Given the description of an element on the screen output the (x, y) to click on. 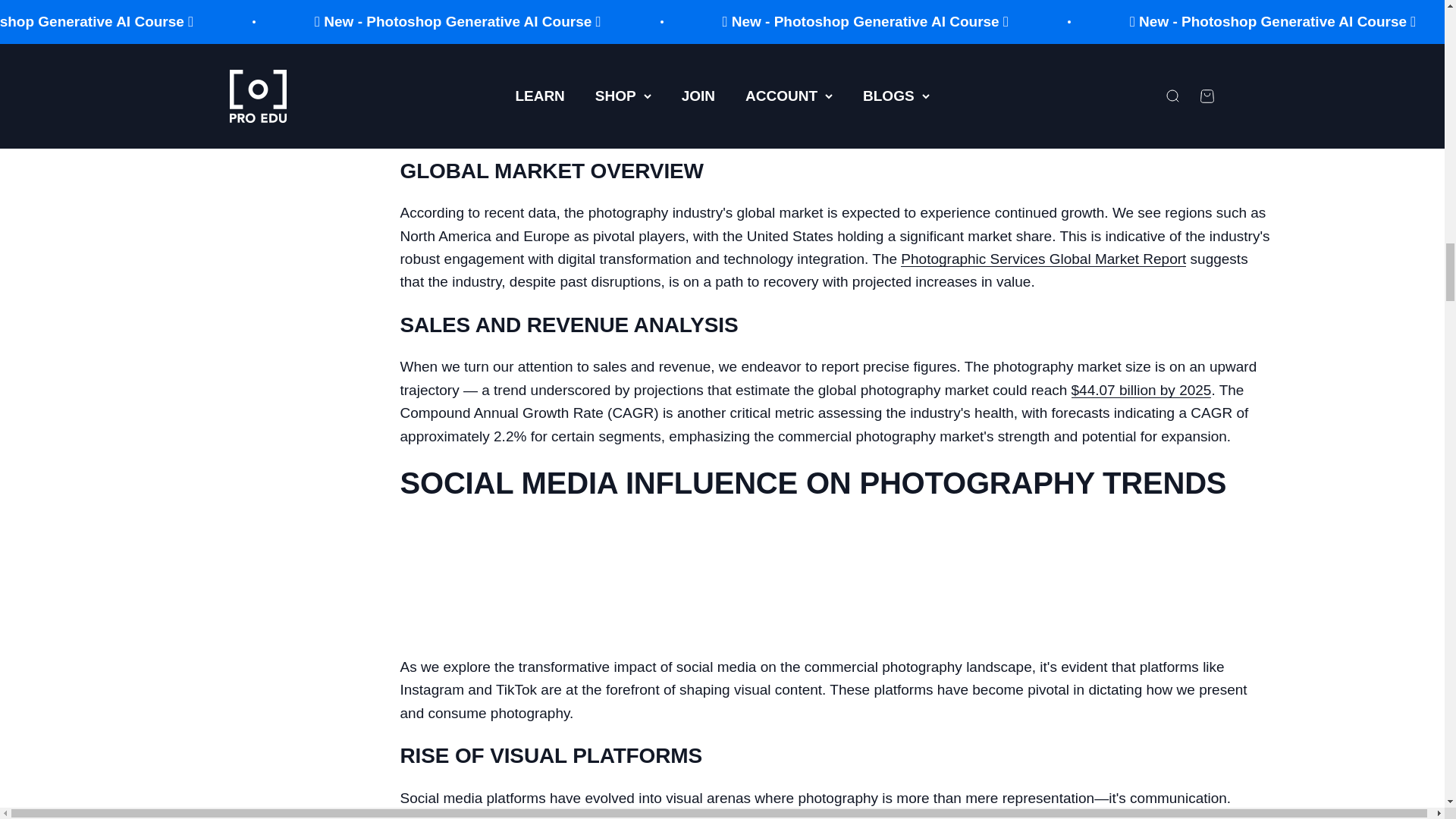
GcMIQxW3IFo (513, 581)
xQfGY0zseag (513, 38)
